Given the description of an element on the screen output the (x, y) to click on. 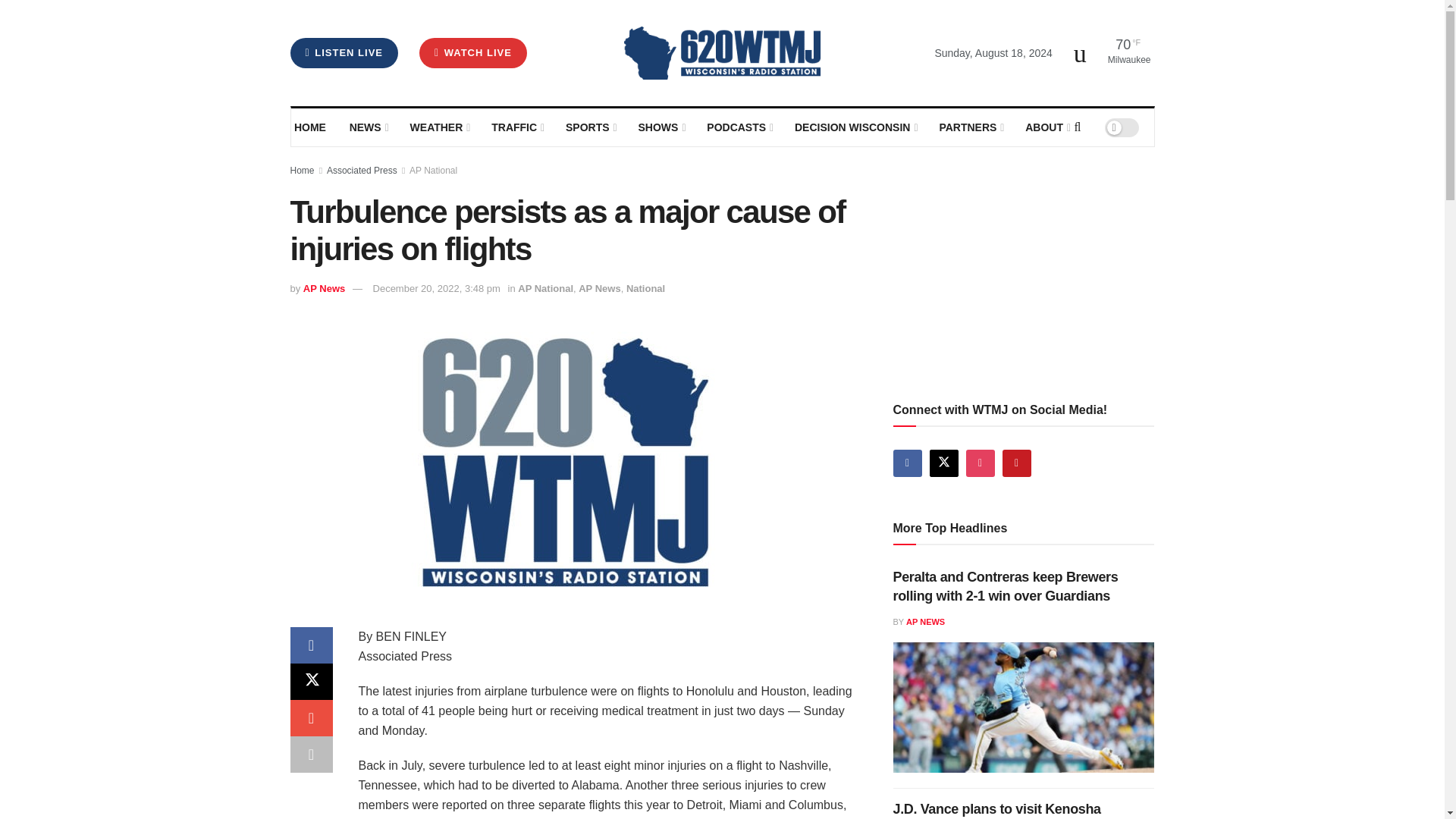
NEWS (368, 127)
TRAFFIC (516, 127)
WEATHER (438, 127)
LISTEN LIVE (343, 52)
SPORTS (589, 127)
HOME (310, 127)
WATCH LIVE (473, 52)
